Given the description of an element on the screen output the (x, y) to click on. 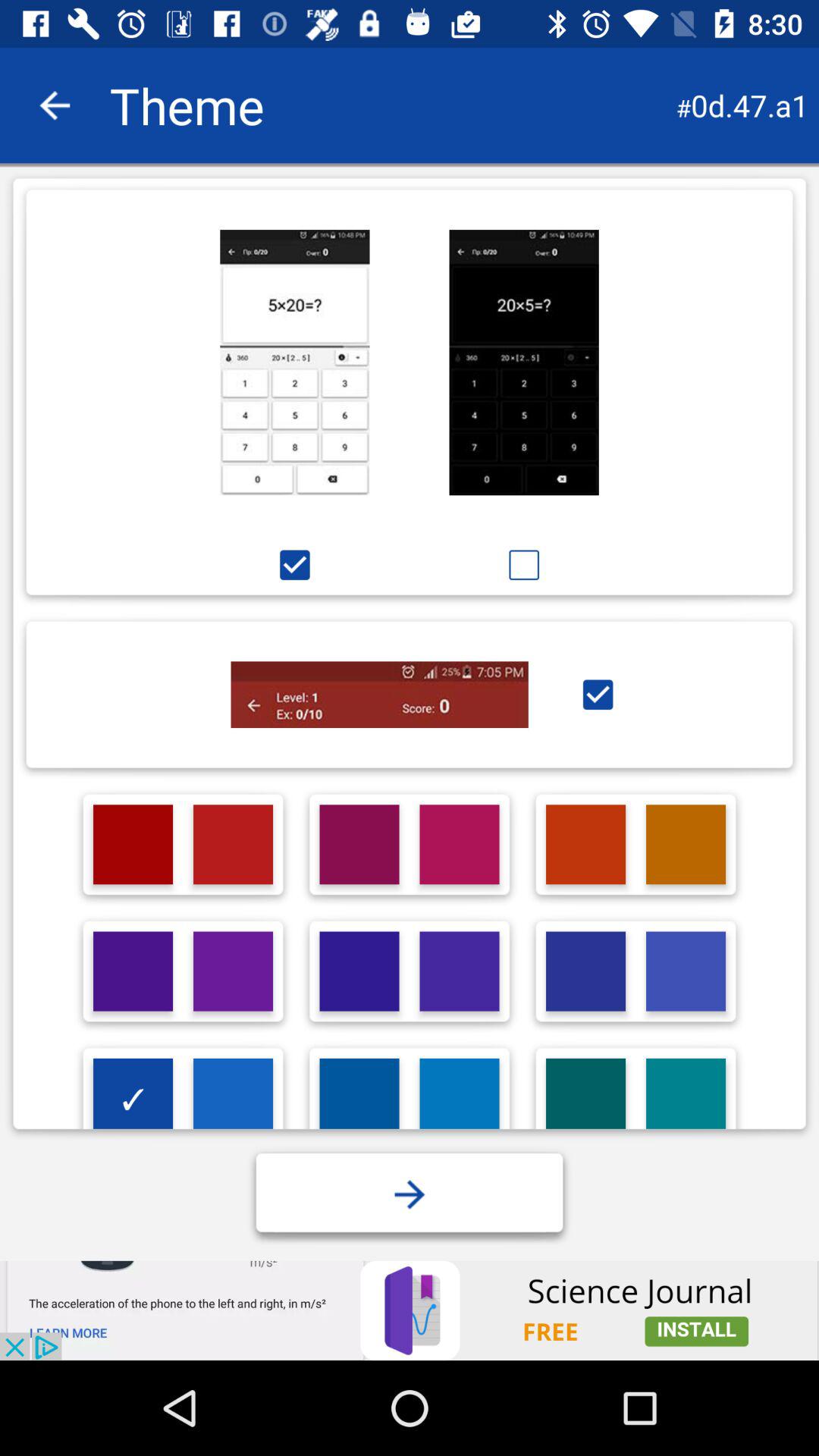
theme color (359, 971)
